Given the description of an element on the screen output the (x, y) to click on. 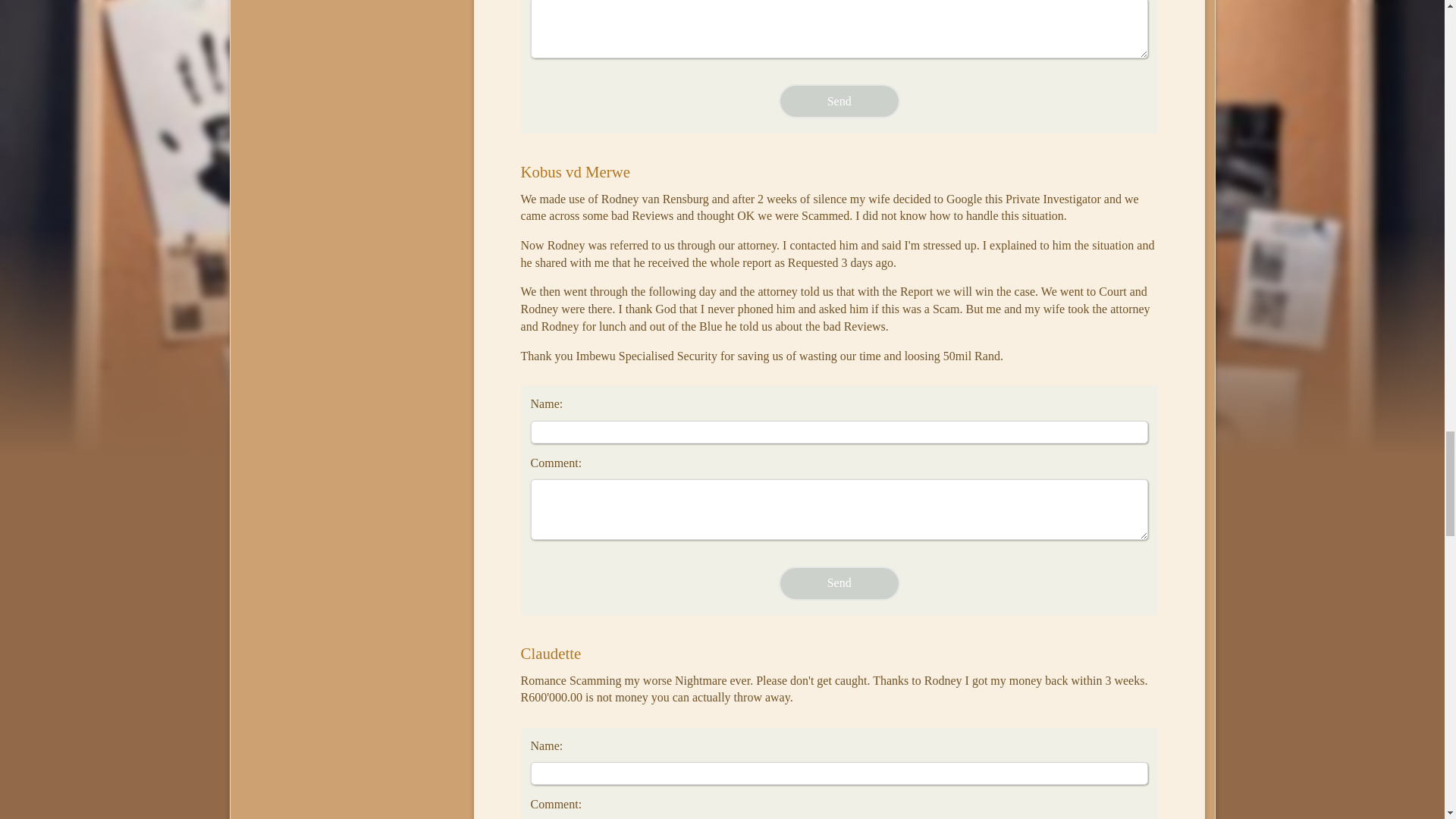
Send (838, 100)
Send (838, 100)
Send (838, 583)
Send (838, 583)
